Given the description of an element on the screen output the (x, y) to click on. 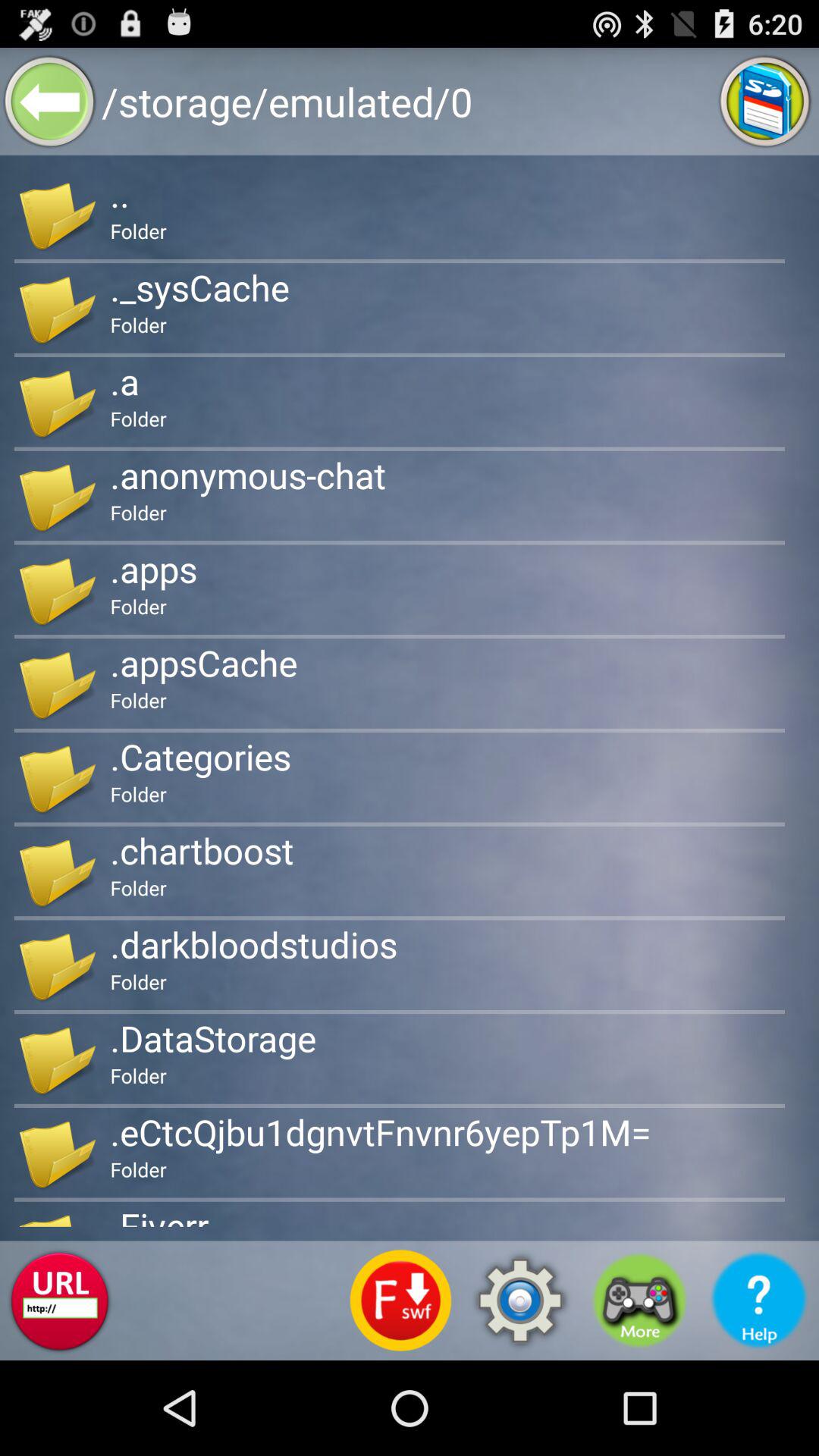
choose icon above the folder item (203, 662)
